Given the description of an element on the screen output the (x, y) to click on. 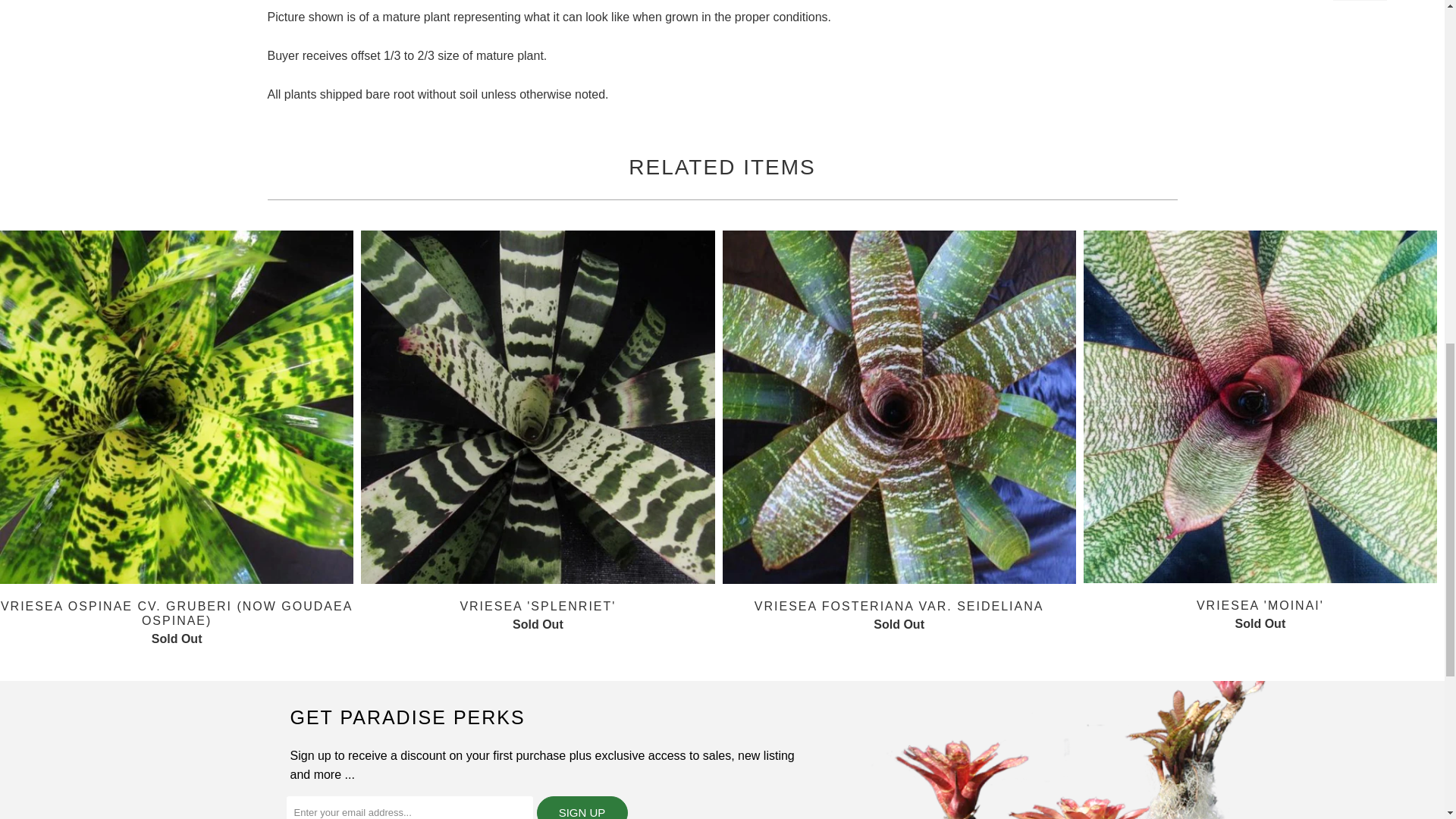
Sign Up (582, 807)
